Given the description of an element on the screen output the (x, y) to click on. 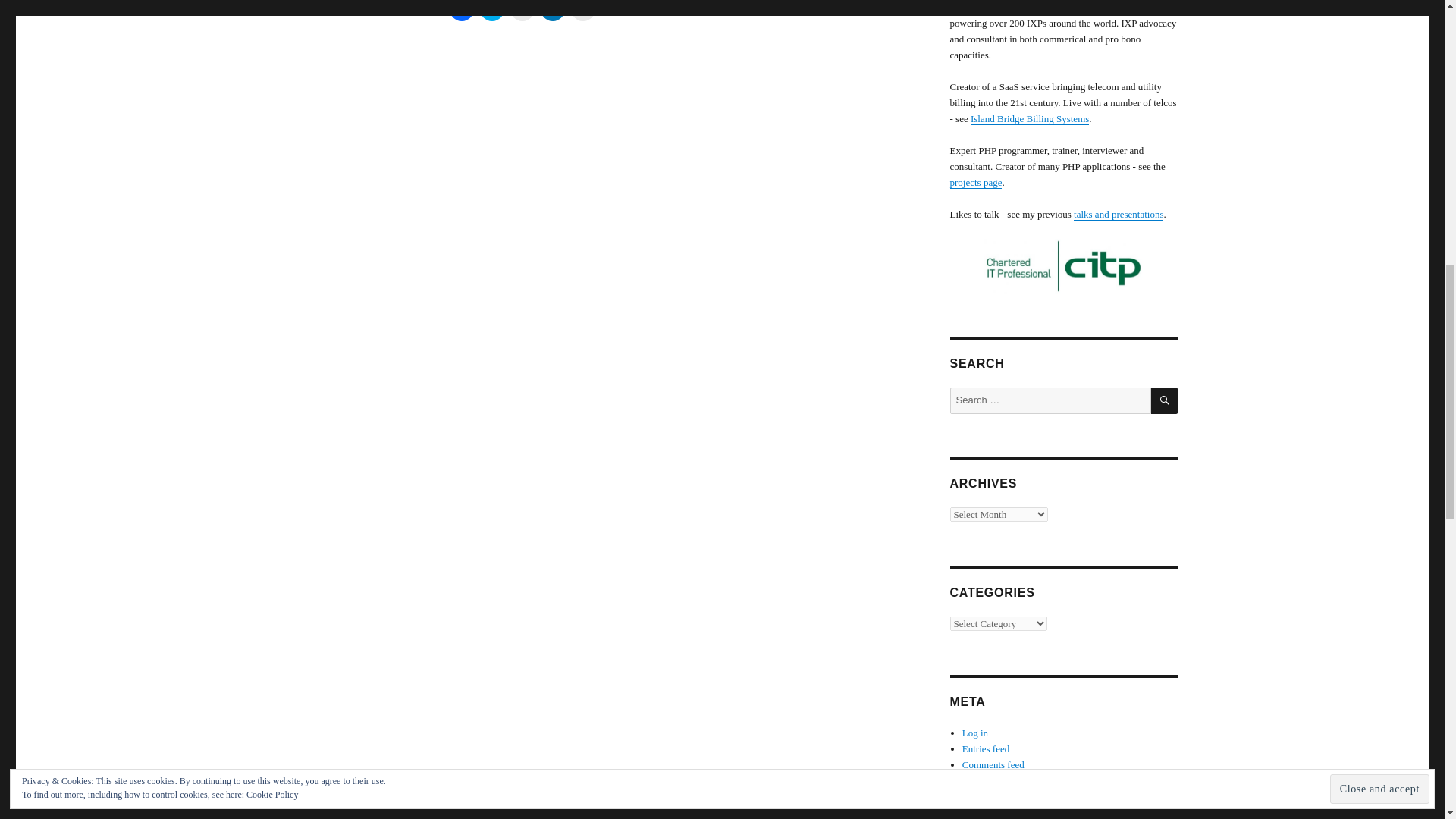
WordPress.org (991, 780)
SEARCH (1164, 400)
projects page (975, 182)
Click to share on LinkedIn (552, 10)
Entries feed (985, 748)
Island Bridge Billing Systems (1030, 118)
Click to share on Facebook (460, 10)
Click to share on Twitter (491, 10)
Comments feed (993, 764)
IXP Manager (986, 7)
Log in (975, 732)
Click to print (582, 10)
talks and presentations (1118, 214)
Click to email a link to a friend (521, 10)
